Given the description of an element on the screen output the (x, y) to click on. 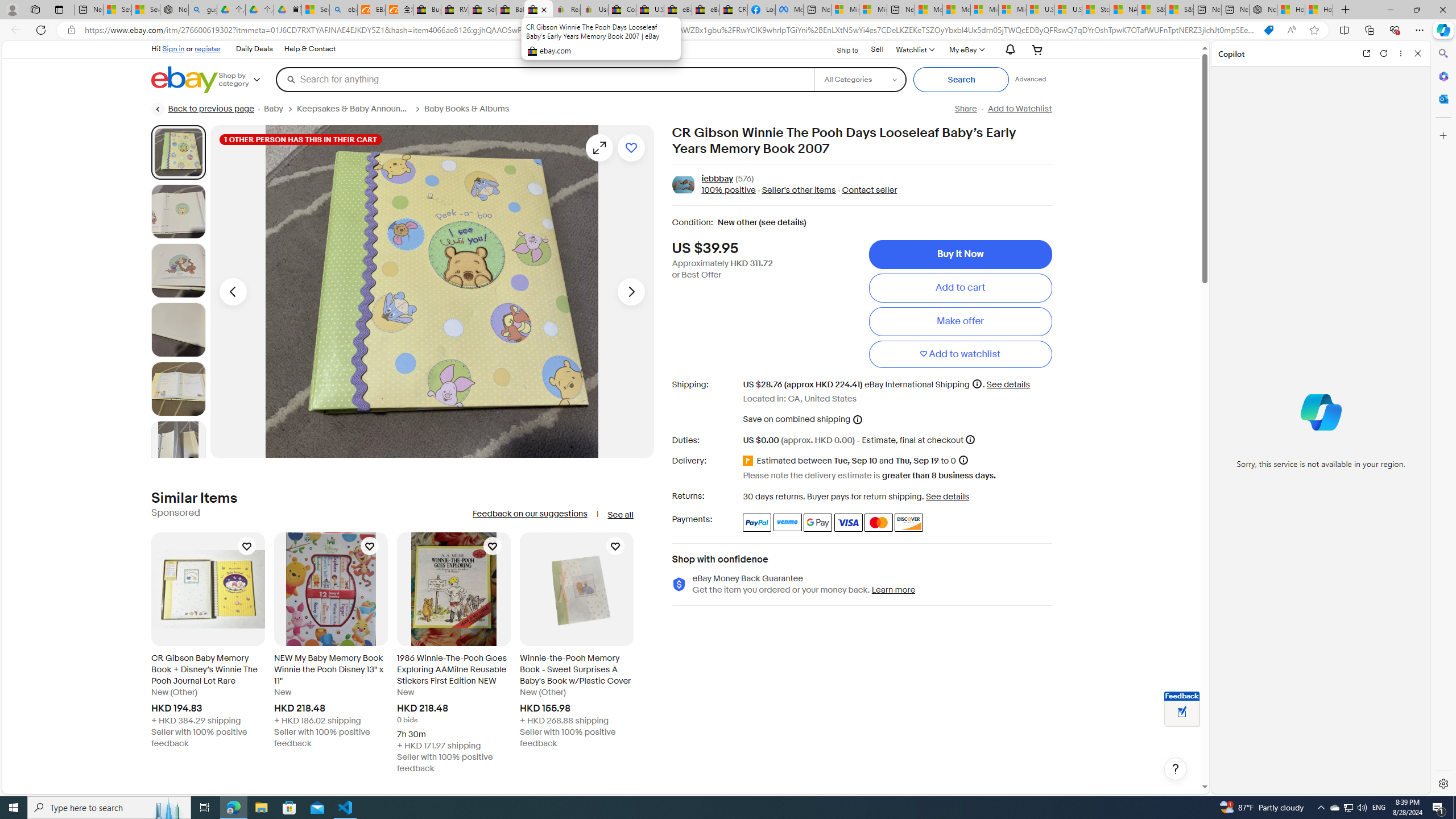
Your shopping cart (1037, 49)
Help, opens dialogs (1175, 768)
Search for anything (544, 78)
Ship to (839, 48)
Previous image - Item images thumbnails (232, 291)
Consumer Health Data Privacy Policy - eBay Inc. (621, 9)
Register: Create a personal eBay account (566, 9)
Back to previous page (202, 109)
Opens image gallery (598, 147)
